Given the description of an element on the screen output the (x, y) to click on. 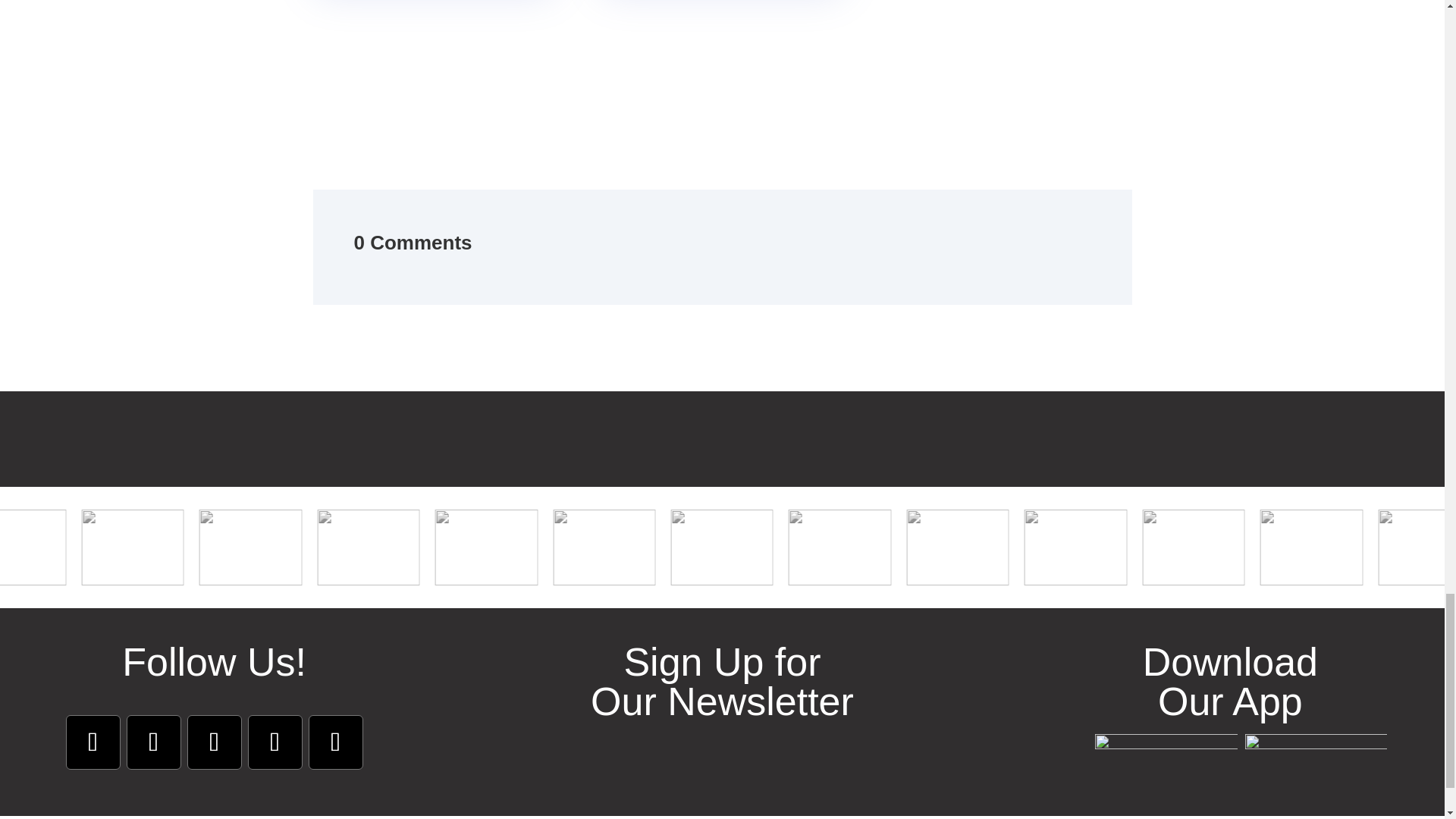
google-play-standard-e1630061644951 (1315, 754)
Follow on Instagram (153, 741)
Follow on X (274, 741)
Follow on Youtube (214, 741)
app-store-standard-e1630061633906 (1165, 754)
Follow on Facebook (92, 741)
Follow on TikTok (335, 741)
